Given the description of an element on the screen output the (x, y) to click on. 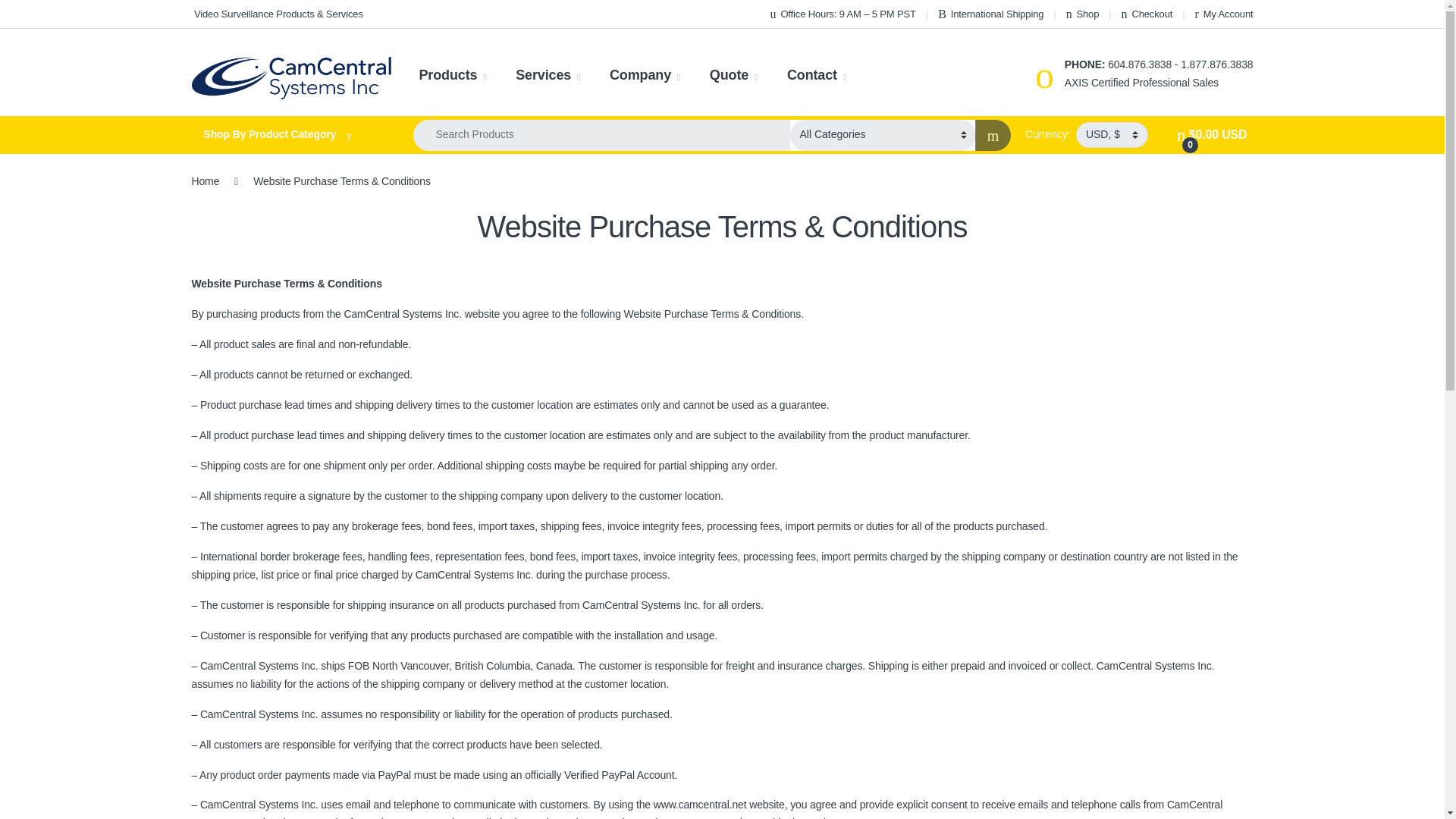
Shop (1082, 13)
My Account (1224, 13)
Office Hours: 9 AM - 5 PM PST (842, 13)
Checkout (1147, 13)
Shop (1082, 13)
International Shipping (990, 13)
International Shipping (990, 13)
Products (452, 75)
Checkout (1147, 13)
My Account (1224, 13)
